Given the description of an element on the screen output the (x, y) to click on. 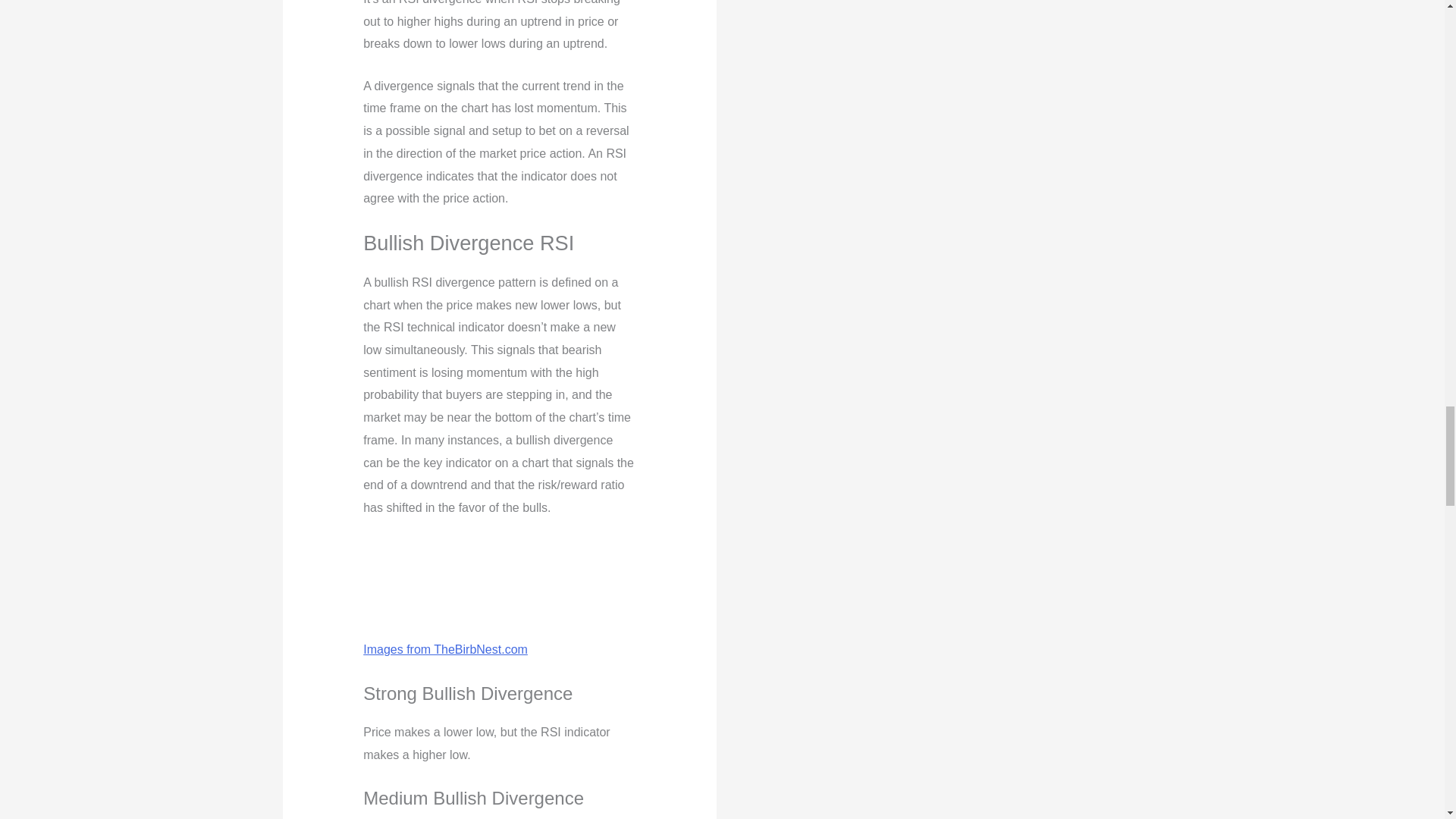
Images from TheBirbNest.com (444, 649)
